Given the description of an element on the screen output the (x, y) to click on. 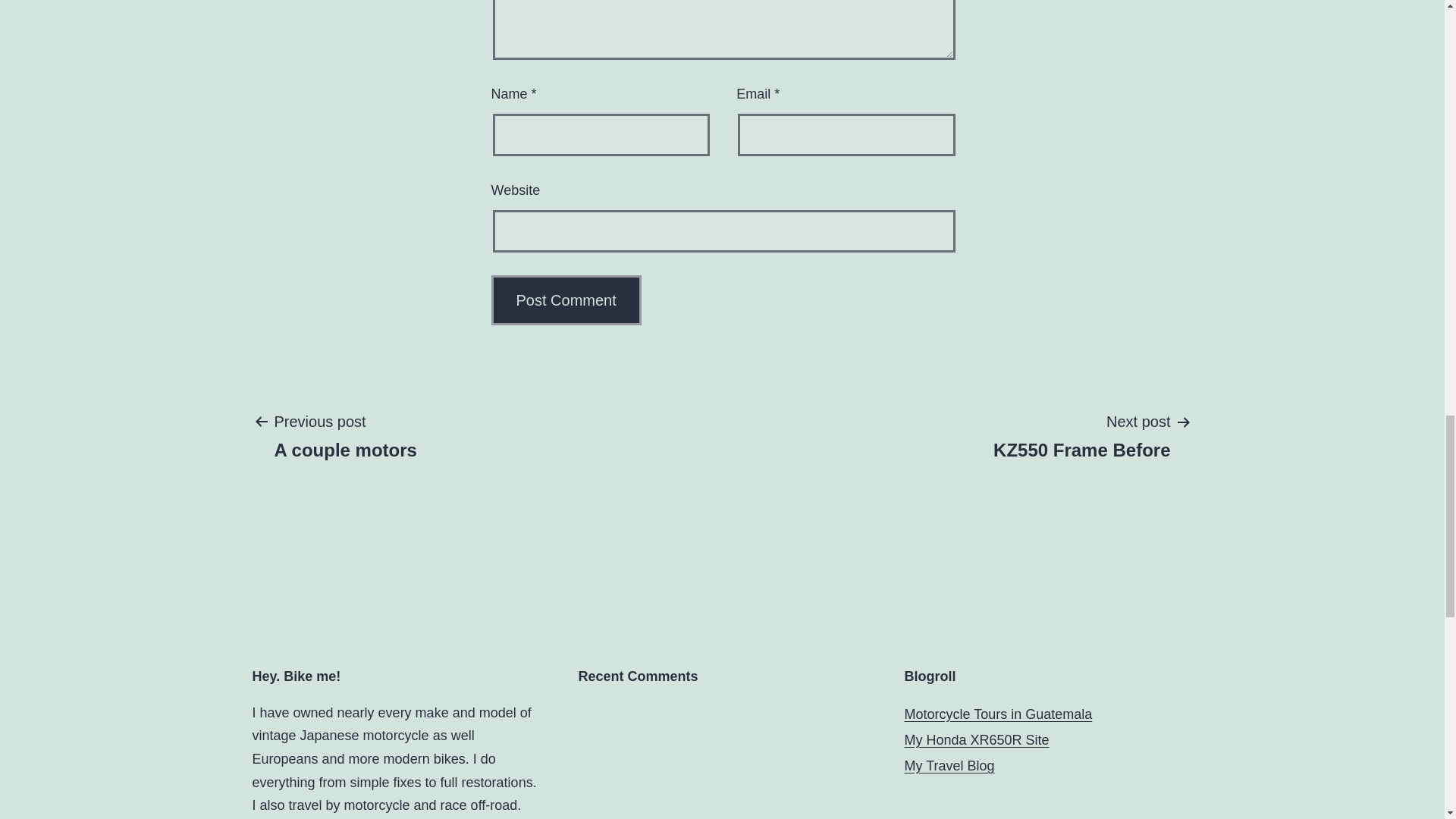
Post Comment (1081, 434)
Motorcycle Tours Guatemala (567, 300)
Motorcycle Tours in Guatemala (344, 434)
Post Comment (998, 713)
